Given the description of an element on the screen output the (x, y) to click on. 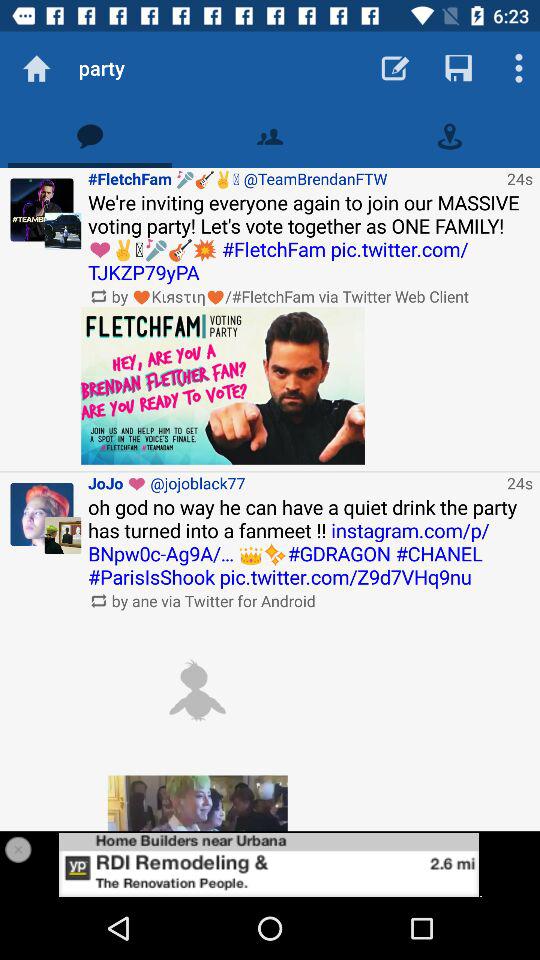
tweet feed tab (90, 136)
